Given the description of an element on the screen output the (x, y) to click on. 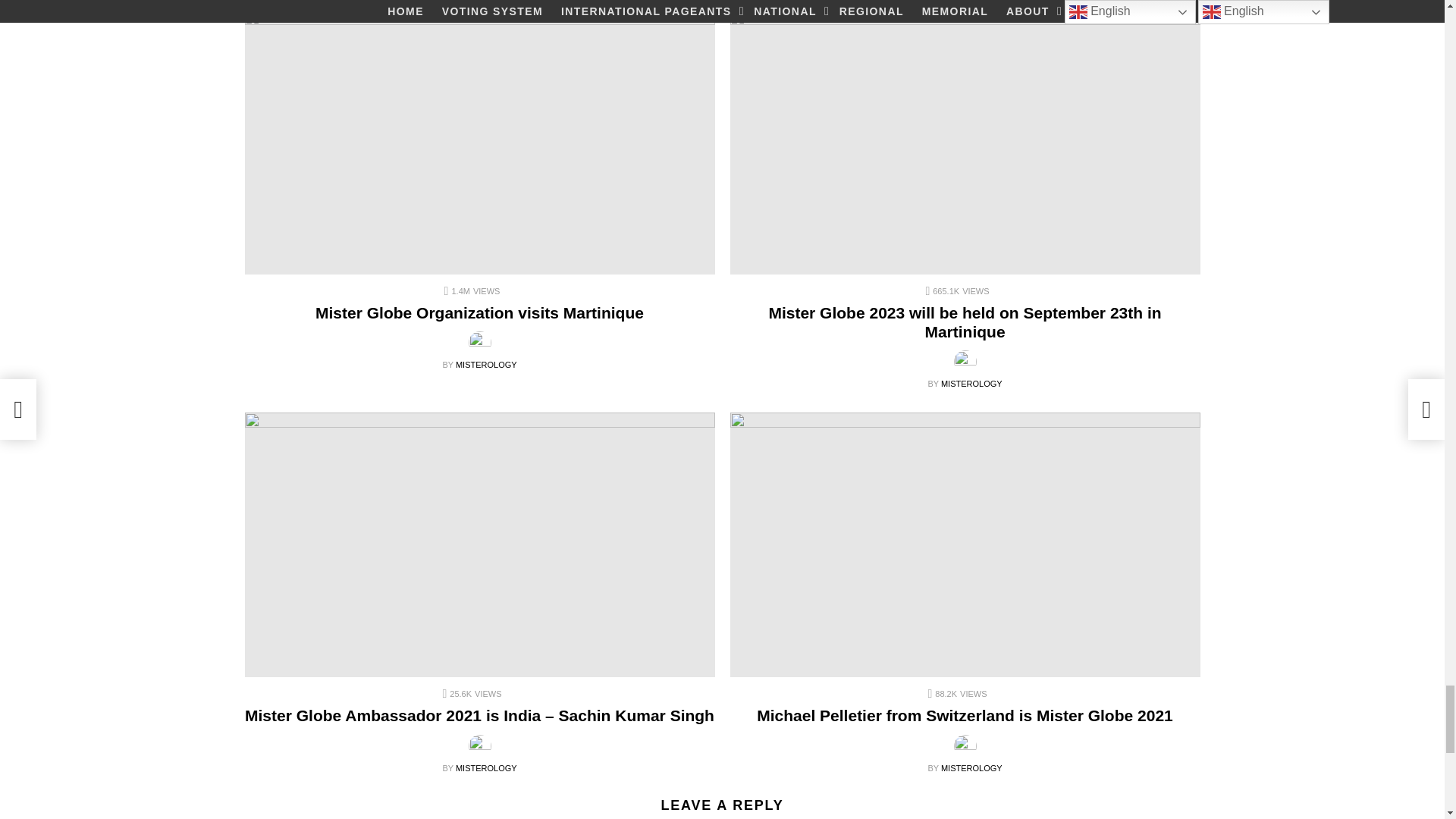
Mister Globe Organization visits Martinique (479, 141)
